Given the description of an element on the screen output the (x, y) to click on. 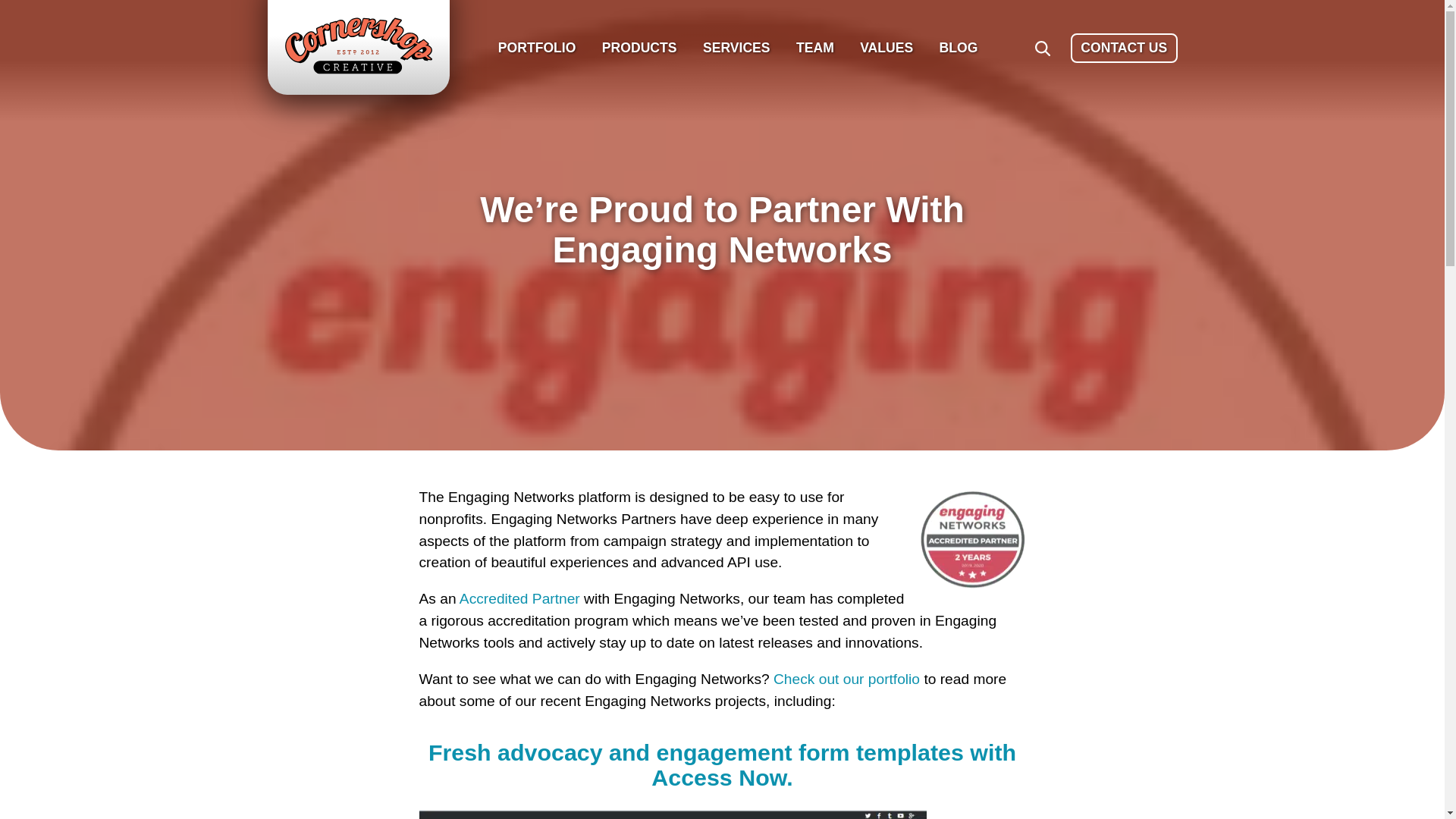
PORTFOLIO (536, 48)
BLOG (957, 48)
PRODUCTS (639, 48)
TEAM (815, 48)
SERVICES (736, 48)
CONTACT US (1123, 48)
Accredited Partner (519, 598)
Check out our portfolio (846, 678)
SEARCH (1042, 47)
VALUES (886, 48)
Cornershop Creative (357, 45)
